Given the description of an element on the screen output the (x, y) to click on. 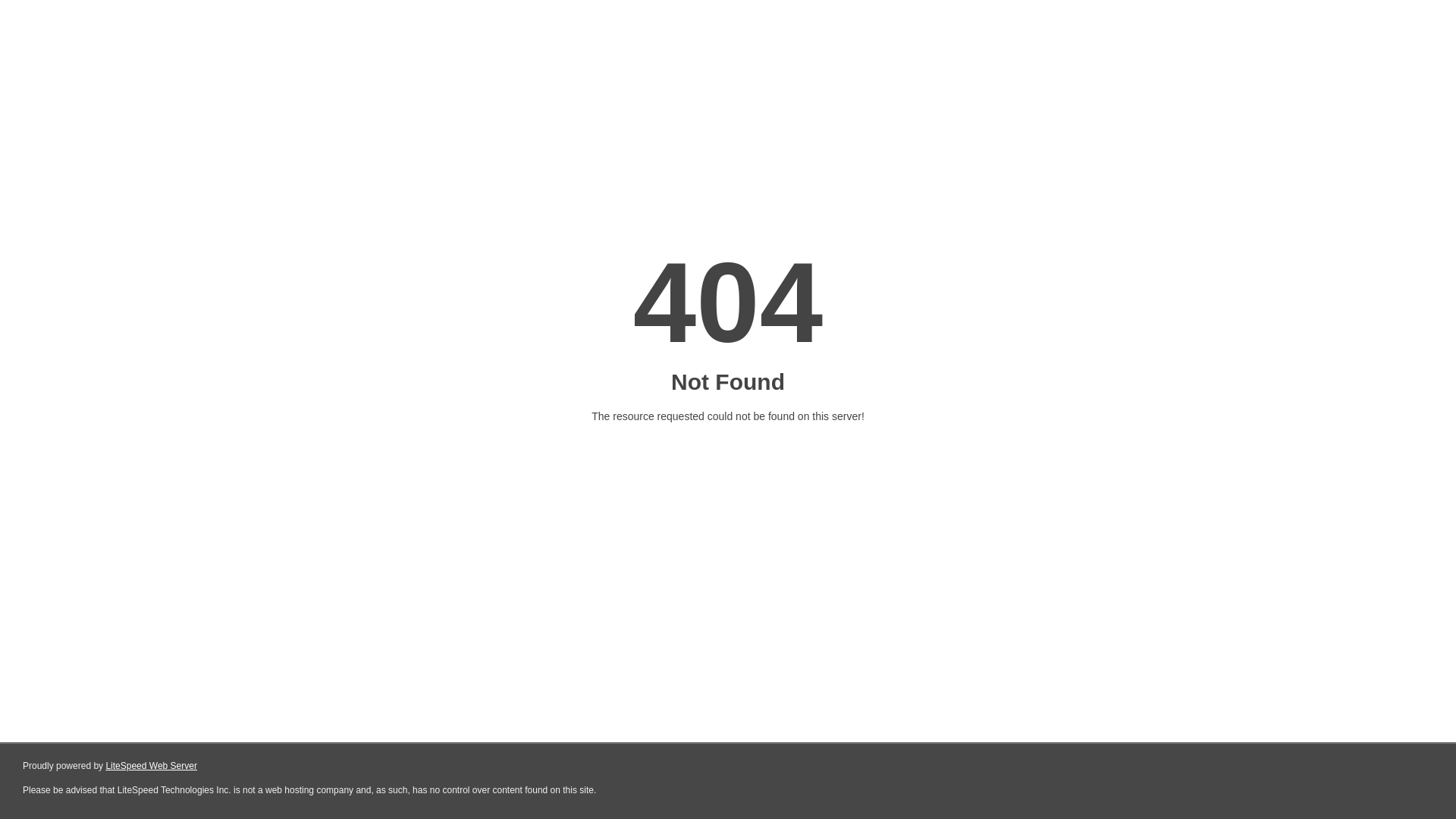
LiteSpeed Web Server Element type: text (151, 765)
